Given the description of an element on the screen output the (x, y) to click on. 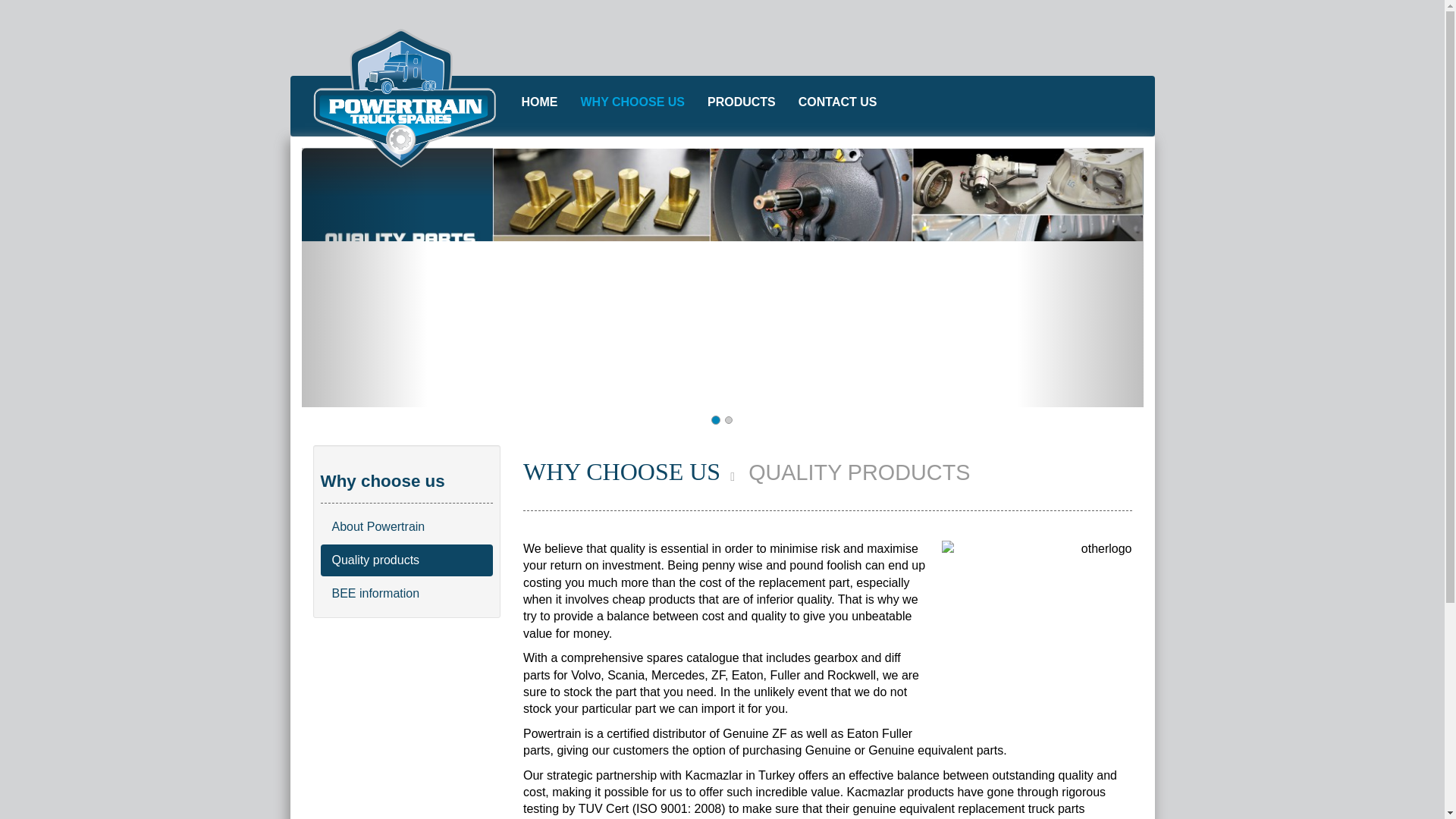
Quality products (406, 560)
HOME (539, 102)
About Powertrain (406, 526)
Contact Us (837, 102)
Quality products (406, 560)
Home (539, 102)
Products (741, 102)
CONTACT US (837, 102)
BEE information (406, 593)
About Powertrain (406, 526)
BEE information (406, 593)
Why choose us (632, 102)
WHY CHOOSE US (632, 102)
PRODUCTS (741, 102)
